Given the description of an element on the screen output the (x, y) to click on. 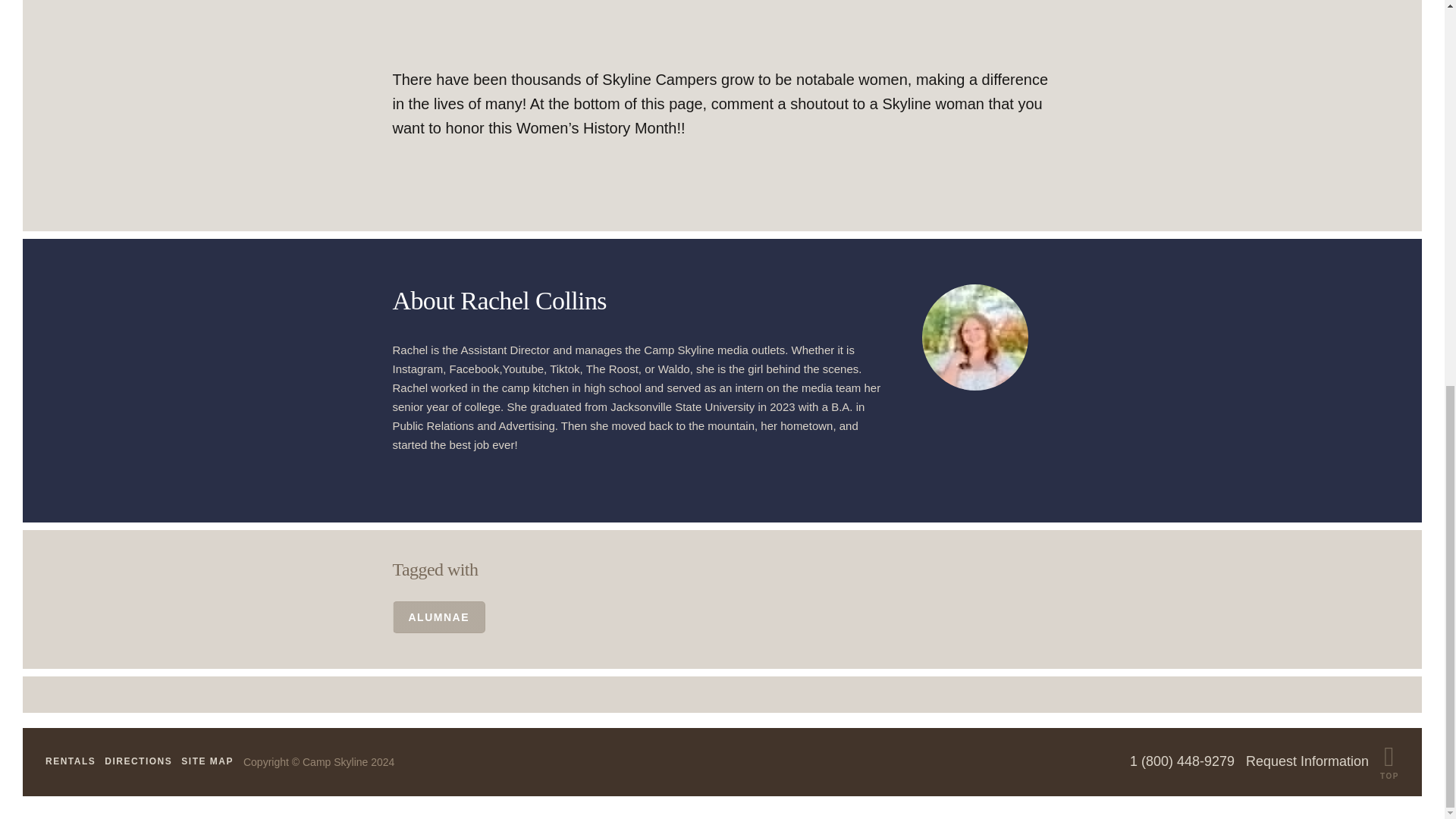
ALUMNAE (439, 617)
RENTALS (69, 761)
SITE MAP (206, 761)
DIRECTIONS (137, 761)
Request Information (1307, 761)
